Given the description of an element on the screen output the (x, y) to click on. 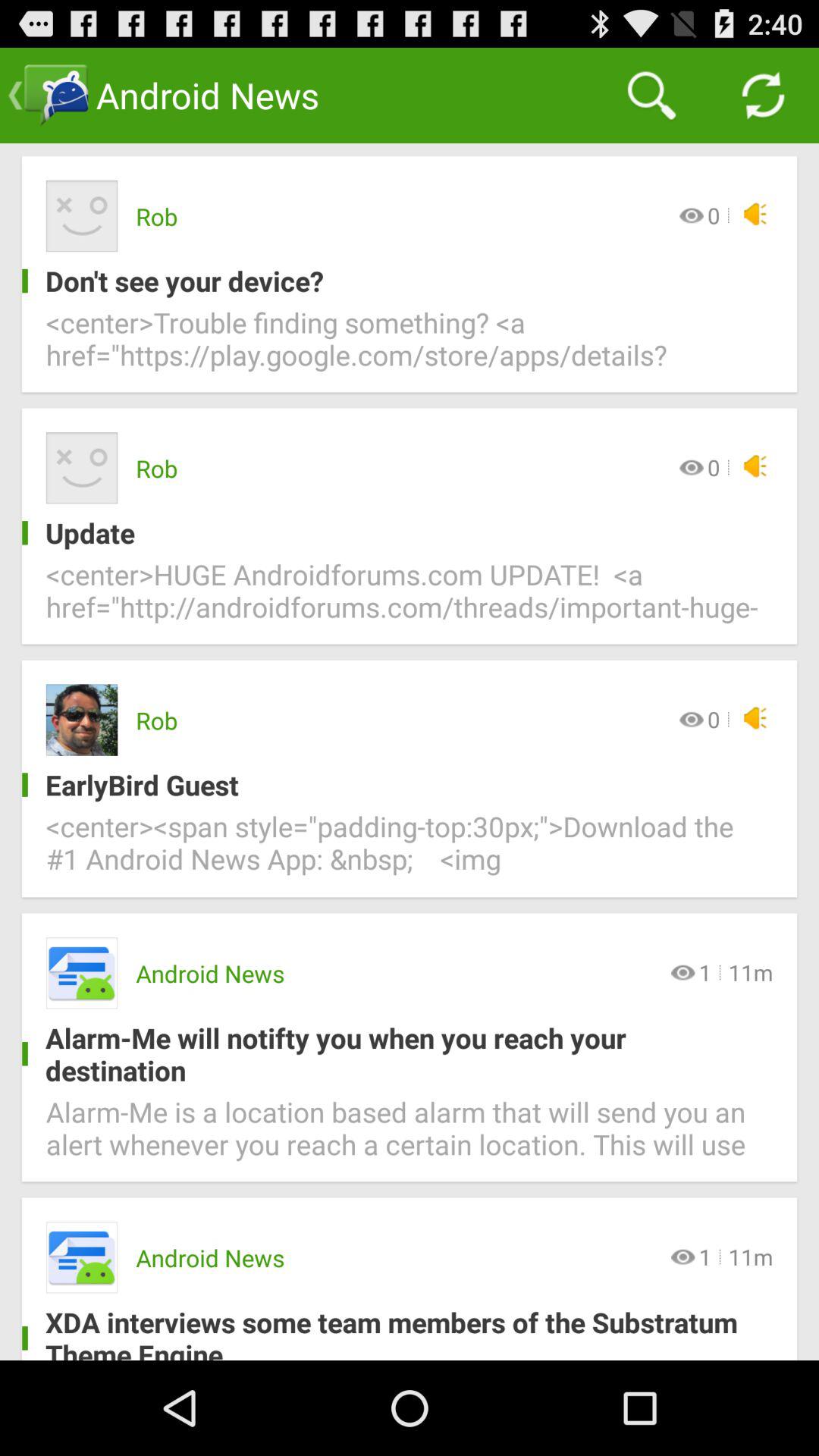
click center span style icon (409, 852)
